Given the description of an element on the screen output the (x, y) to click on. 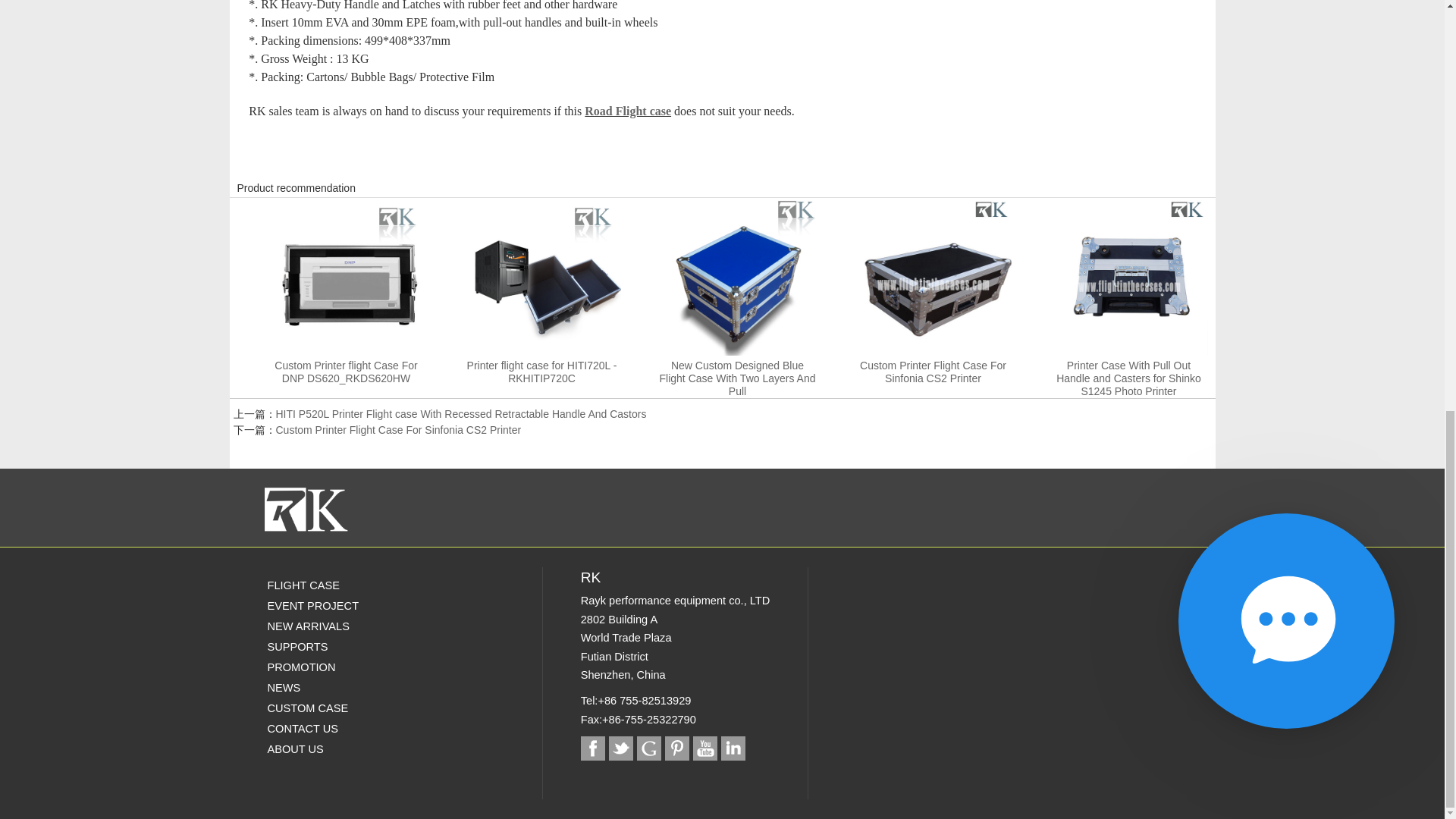
Supports (348, 646)
Custom Case (348, 707)
Contact Us (348, 728)
Event Project (348, 605)
Promotion (348, 666)
News (348, 687)
About us (348, 748)
New  Arrivals (348, 625)
Flight Case (348, 584)
